Given the description of an element on the screen output the (x, y) to click on. 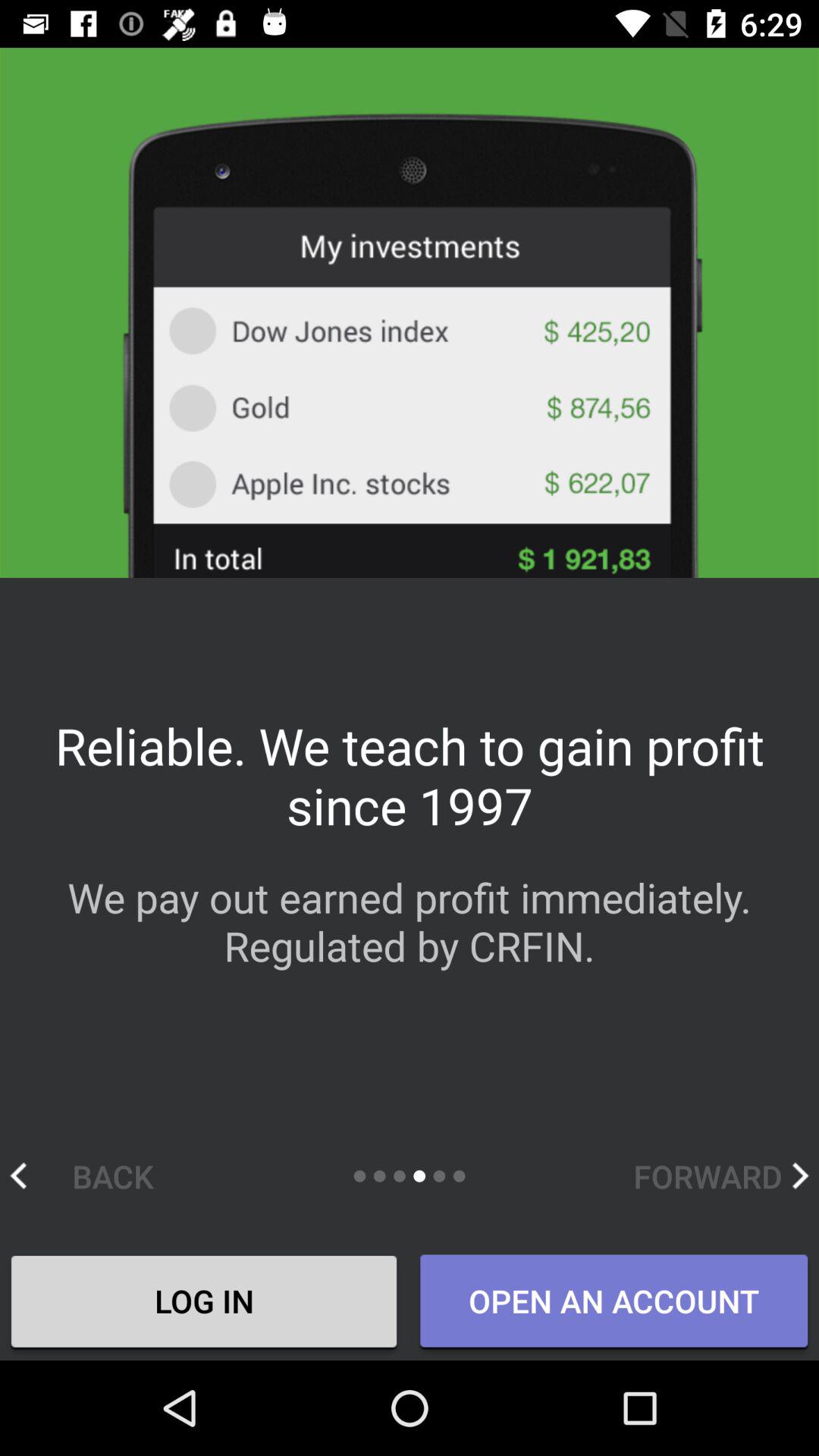
turn on the forward item (720, 1175)
